Given the description of an element on the screen output the (x, y) to click on. 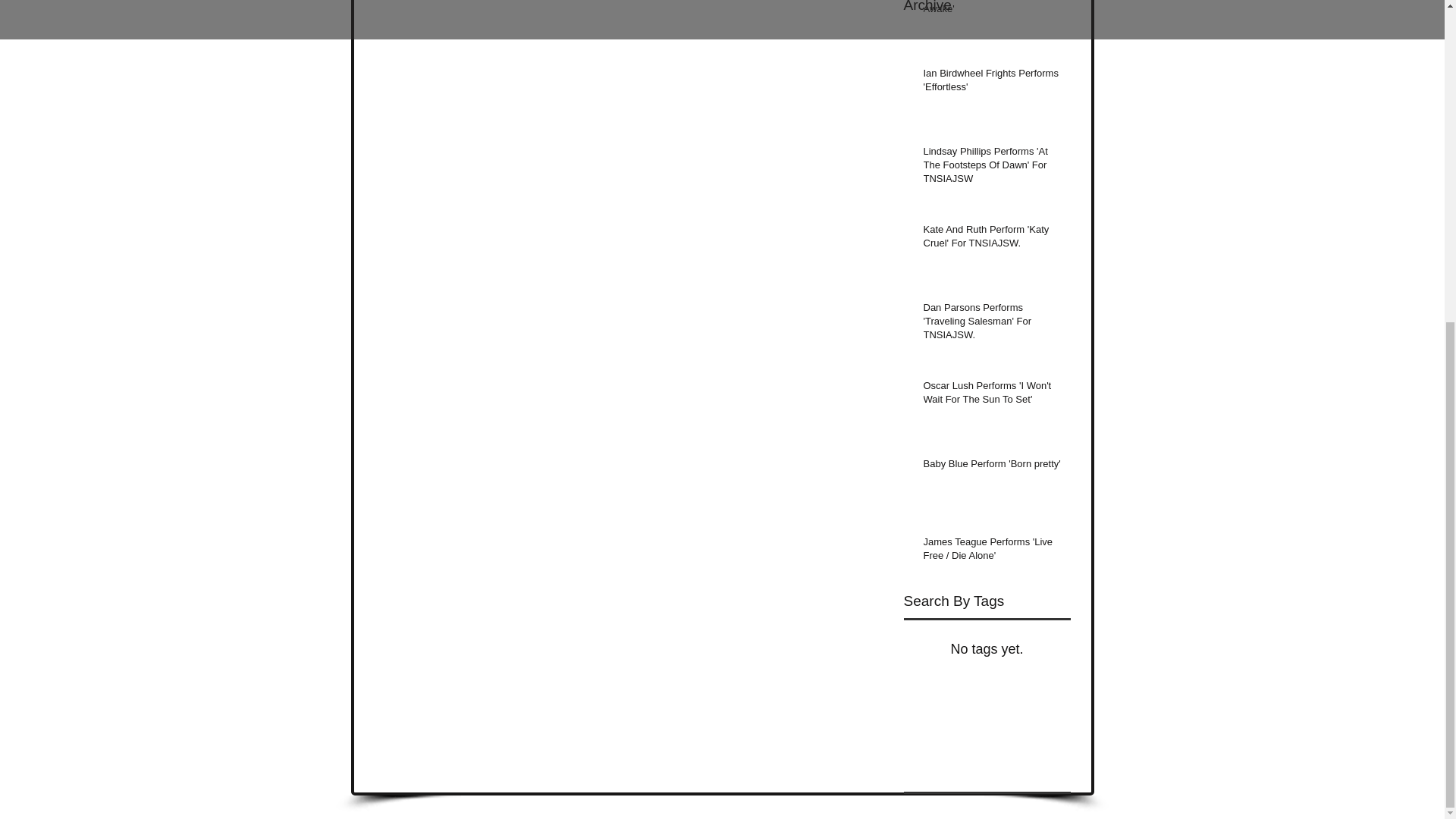
Anna Cordell Performs 'Lie Awake' (992, 11)
Ian Birdwheel Frights Performs 'Effortless' (992, 82)
Oscar Lush Performs 'I Won't Wait For The Sun To Set' (992, 395)
Kate And Ruth Perform 'Katy Cruel' For TNSIAJSW. (992, 239)
Dan Parsons Performs 'Traveling Salesman' For TNSIAJSW. (992, 324)
Baby Blue Perform 'Born pretty' (992, 466)
